Given the description of an element on the screen output the (x, y) to click on. 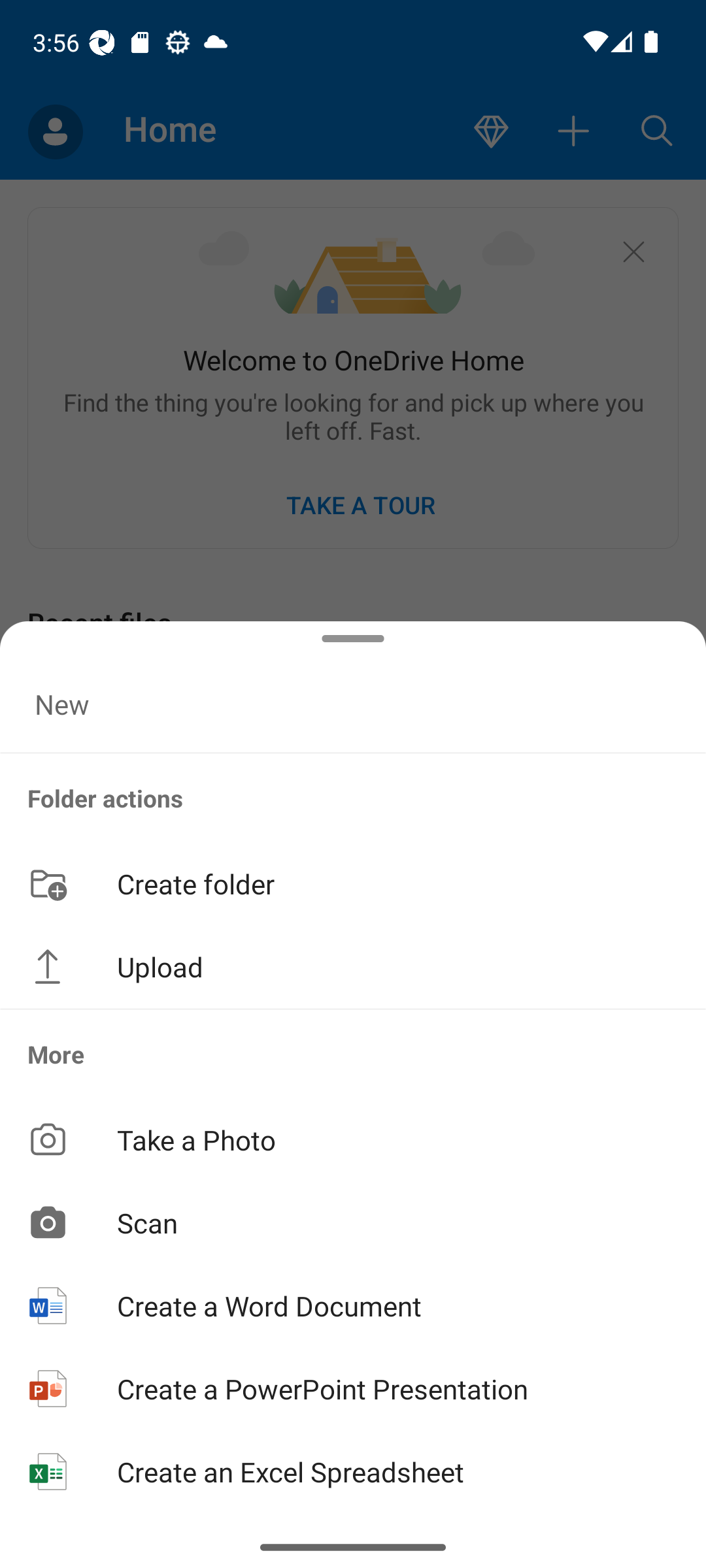
Create folder button Create folder (353, 883)
Upload button Upload (353, 966)
Take a Photo button Take a Photo (353, 1138)
Scan button Scan (353, 1221)
